Given the description of an element on the screen output the (x, y) to click on. 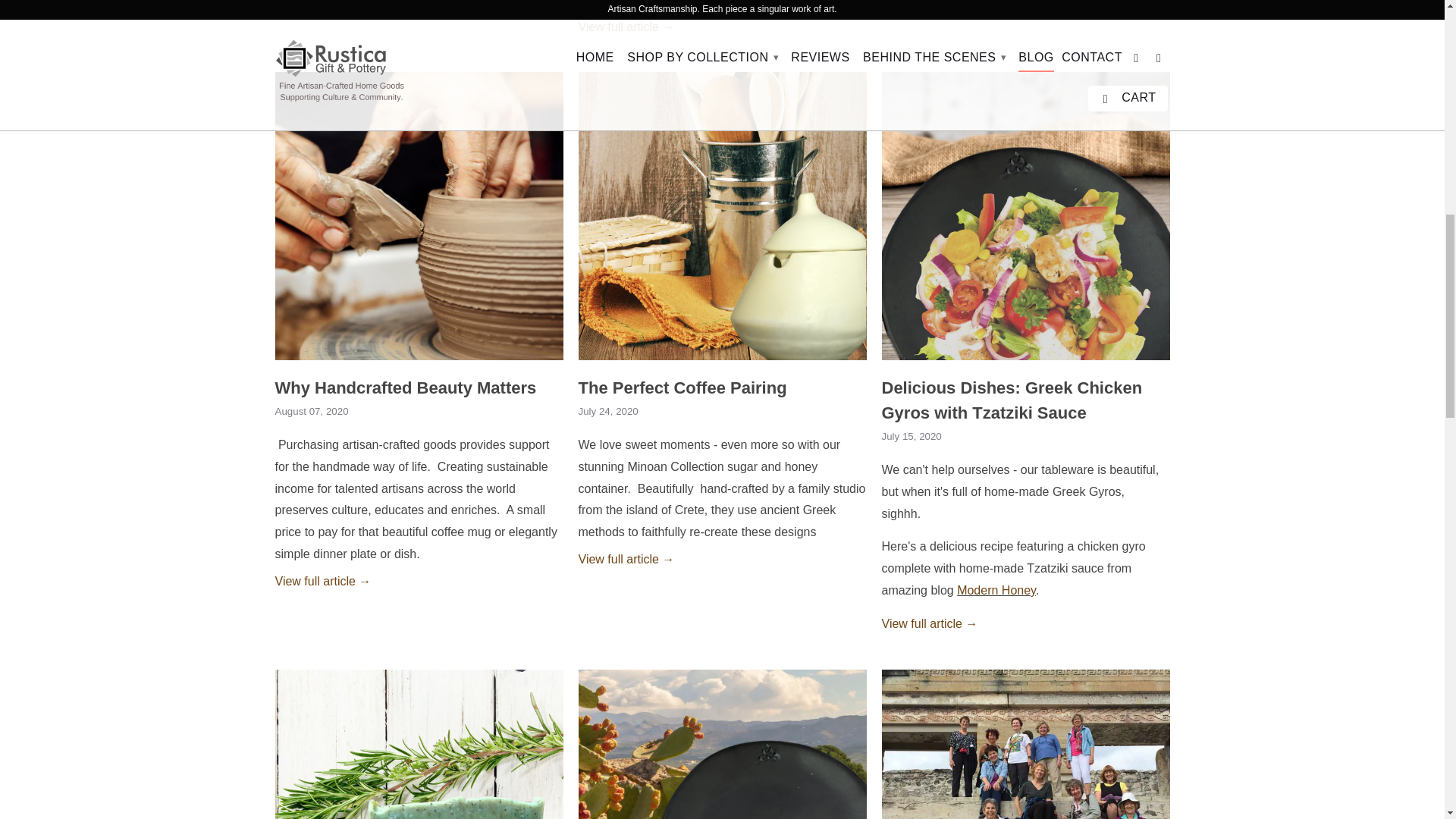
New Year Reflections:  Loved Ones Around the Table (626, 26)
Why Handcrafted Beauty Matters (323, 581)
Delicious Dishes: Greek Chicken Gyros with Tzatziki Sauce (1024, 363)
The Perfect Coffee Pairing (722, 363)
Delicious Dishes: Greek Chicken Gyros with Tzatziki Sauce (928, 623)
The Perfect Coffee Pairing (626, 558)
Why Handcrafted Beauty Matters (418, 363)
